Given the description of an element on the screen output the (x, y) to click on. 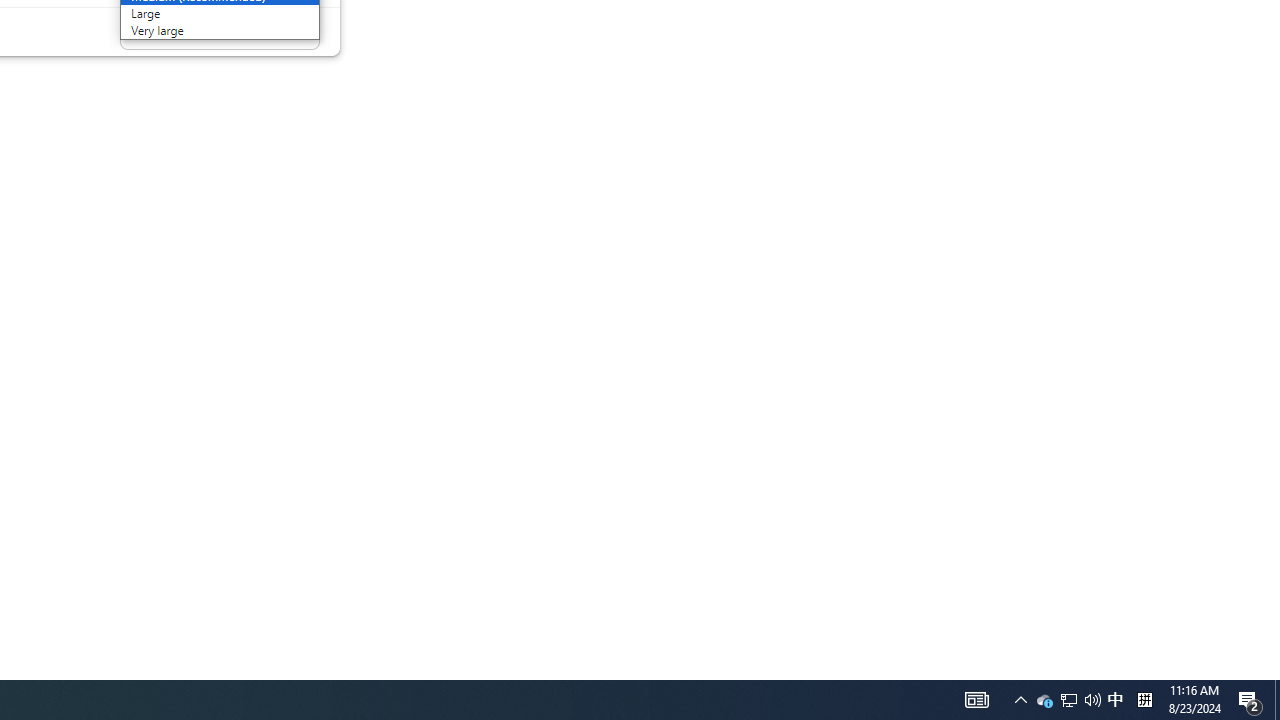
Page zoom (219, 32)
Large (194, 13)
Very large (194, 30)
